Given the description of an element on the screen output the (x, y) to click on. 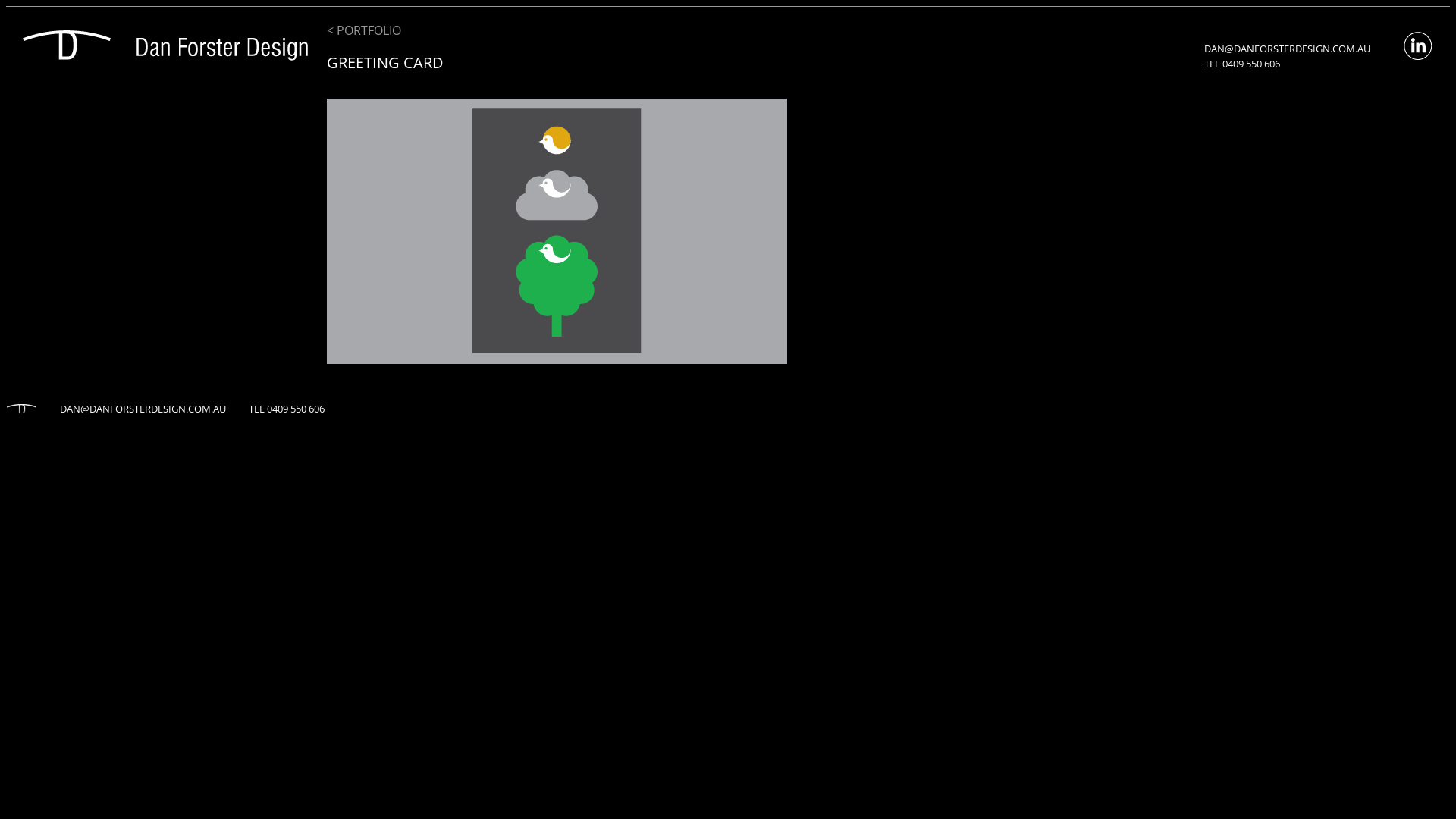
DAN@DANFORSTERDESIGN.COM.AU Element type: text (1287, 48)
< PORTFOLIO Element type: text (363, 29)
DAN@DANFORSTERDESIGN.COM.AU Element type: text (142, 408)
